Given the description of an element on the screen output the (x, y) to click on. 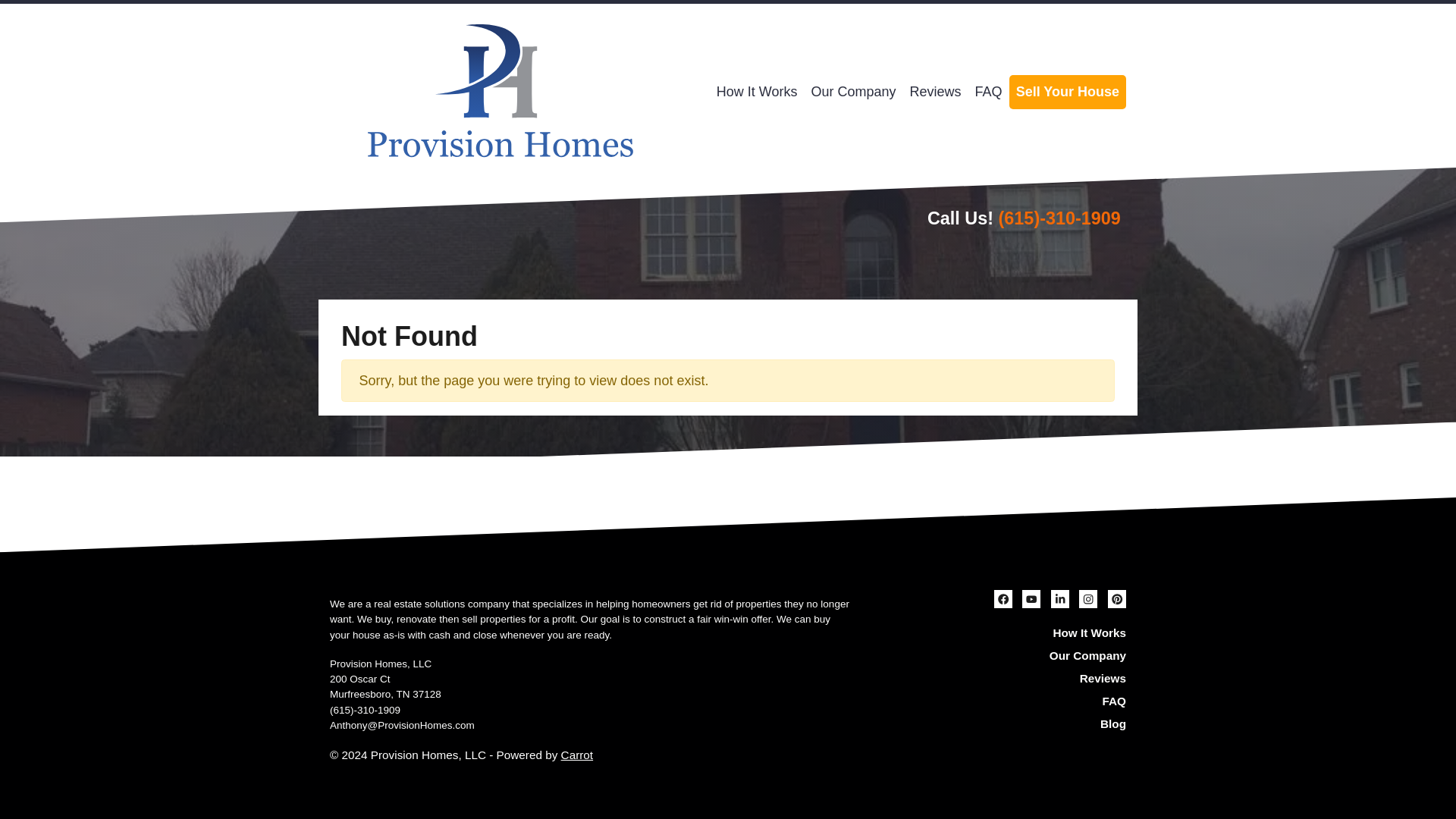
FAQ (1000, 701)
Our Company (853, 91)
Instagram (1087, 598)
LinkedIn (1059, 598)
Blog (1000, 724)
Carrot (577, 754)
Reviews (935, 91)
Our Company (1000, 655)
How It Works (757, 91)
Our Company (853, 91)
Reviews (935, 91)
Facebook (1002, 598)
Pinterest (1116, 598)
Sell Your House (1067, 91)
YouTube (1031, 598)
